Given the description of an element on the screen output the (x, y) to click on. 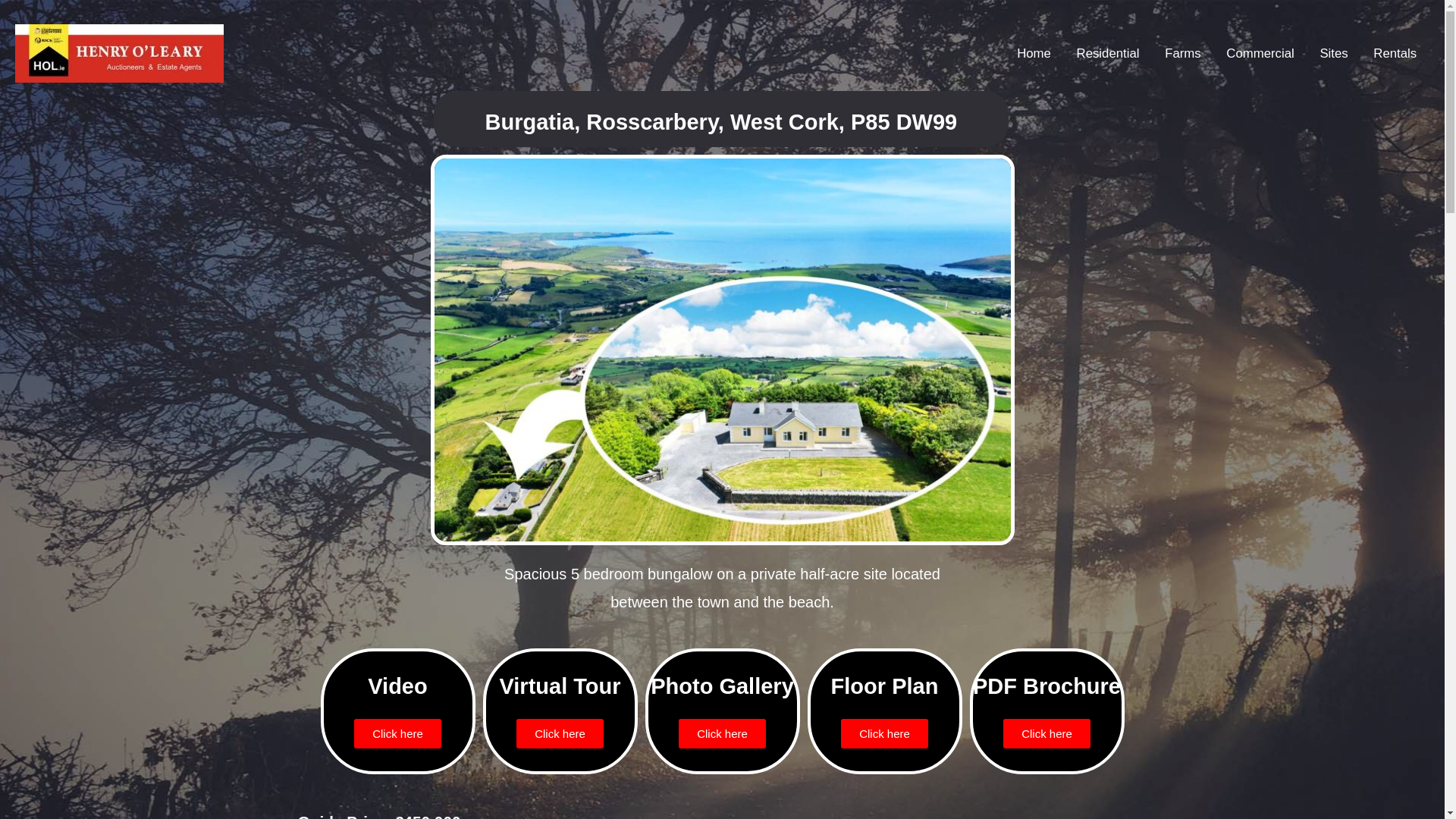
Click here (397, 733)
Farms (1181, 52)
Home (1033, 52)
Click here (884, 733)
Rentals (1394, 52)
Commercial (1259, 52)
Residential (1108, 52)
Sites (1334, 52)
Click here (560, 733)
Click here (721, 733)
Click here (1046, 733)
